Given the description of an element on the screen output the (x, y) to click on. 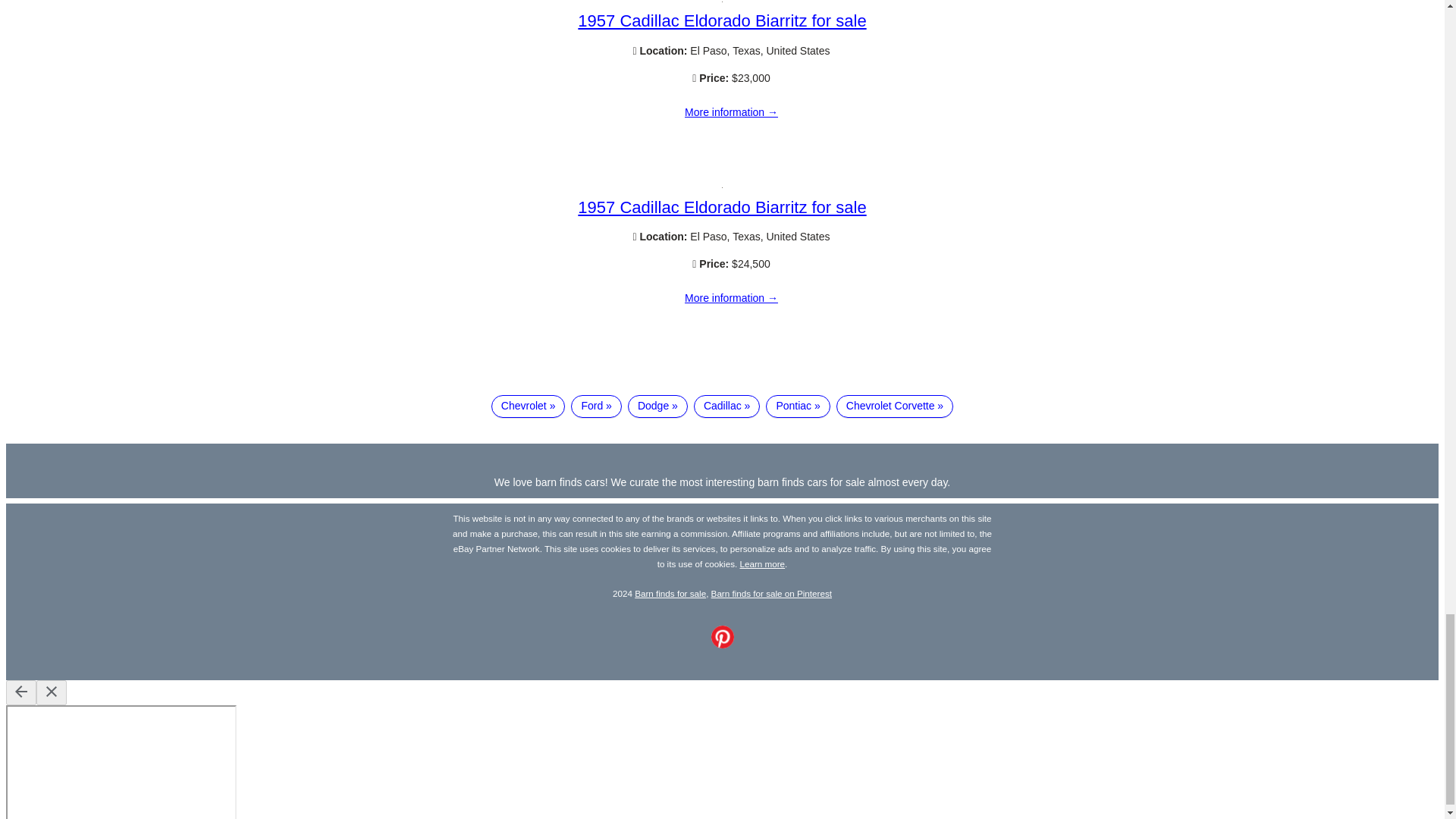
Ford (595, 405)
1957 Cadillac Eldorado Biarritz for sale (731, 298)
Dodge (657, 405)
1957 Cadillac Eldorado Biarritz for sale (722, 207)
Chevrolet Corvette (894, 405)
Follow Barn finds for sale on Pinterest (722, 644)
Barn finds for sale on Pinterest (771, 593)
Chevrolet (529, 405)
1957 Cadillac Eldorado Biarritz for sale (722, 20)
Barn finds for sale (670, 593)
